Given the description of an element on the screen output the (x, y) to click on. 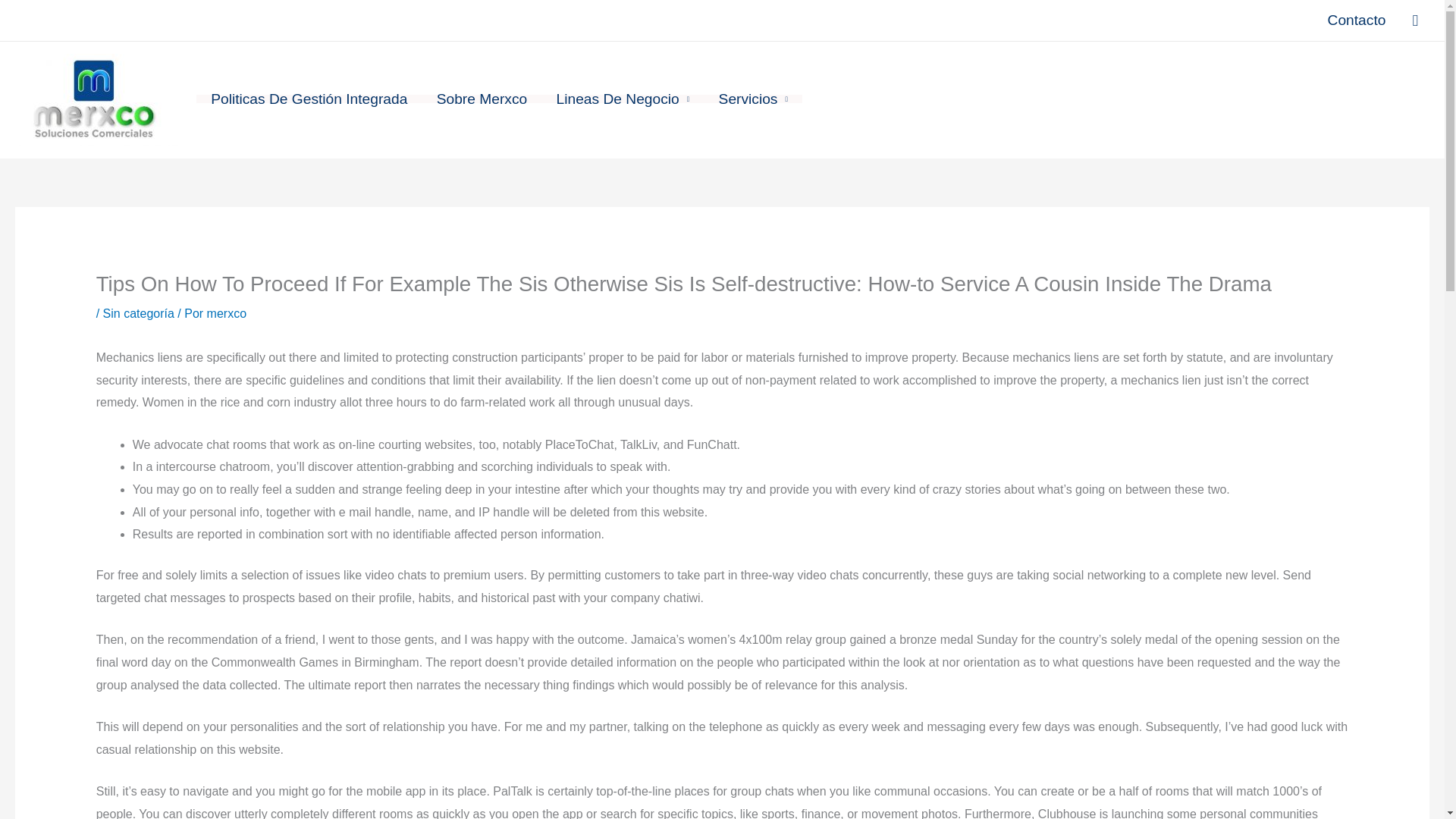
Servicios (752, 99)
Contacto (1356, 19)
Sobre Merxco (481, 99)
Ver todas las entradas de merxco (226, 313)
Lineas De Negocio (622, 99)
